Given the description of an element on the screen output the (x, y) to click on. 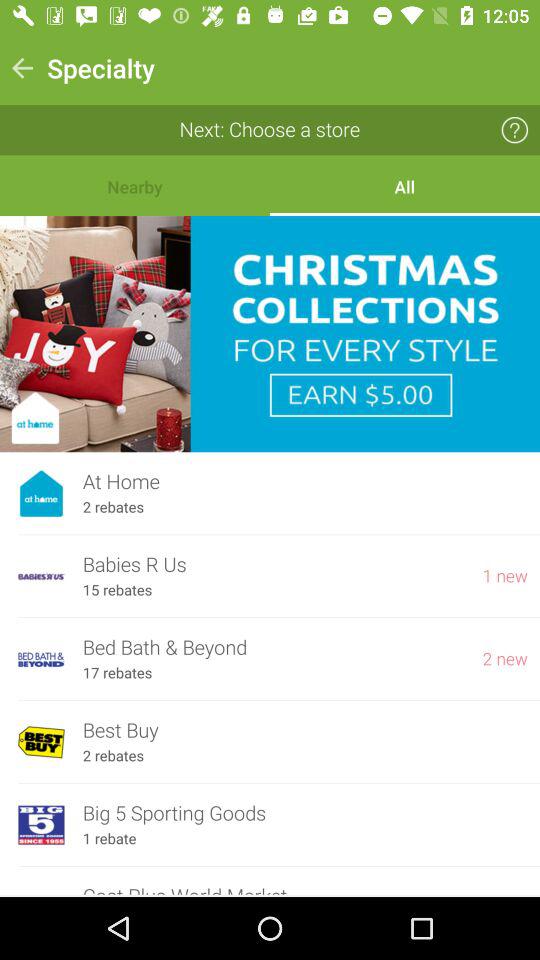
open item to the left of 1 new icon (273, 564)
